Given the description of an element on the screen output the (x, y) to click on. 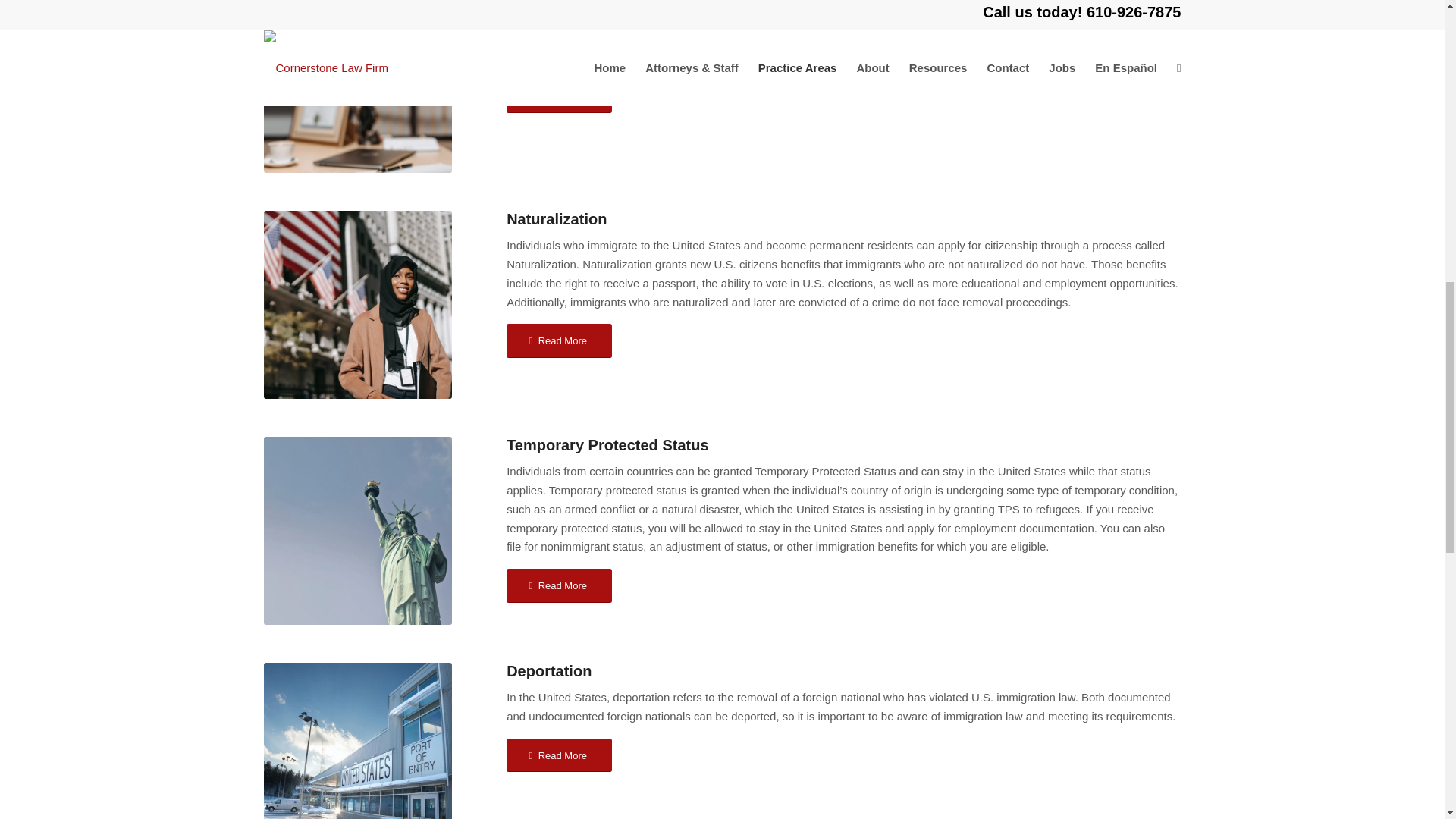
Handshake (357, 86)
Port of Entry (357, 740)
Lady Liberty (357, 530)
Naturalization (357, 304)
